Given the description of an element on the screen output the (x, y) to click on. 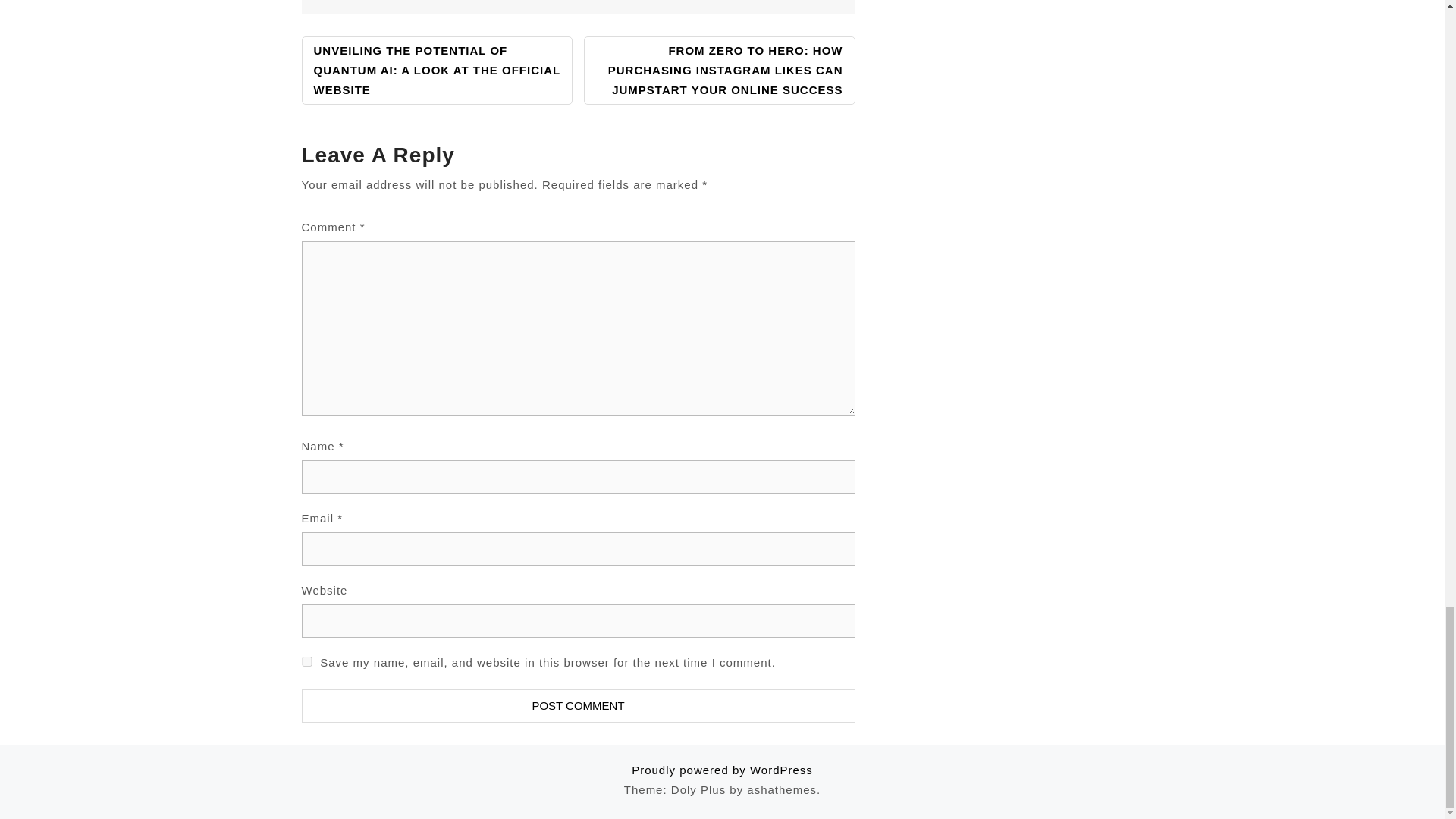
yes (307, 661)
Post Comment (578, 705)
Post Comment (578, 705)
